Given the description of an element on the screen output the (x, y) to click on. 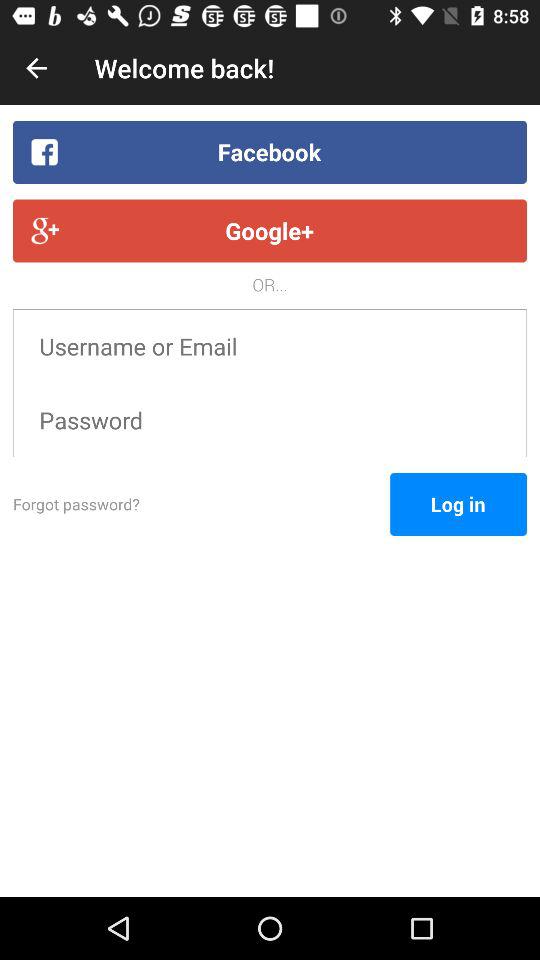
swipe until facebook item (269, 151)
